Given the description of an element on the screen output the (x, y) to click on. 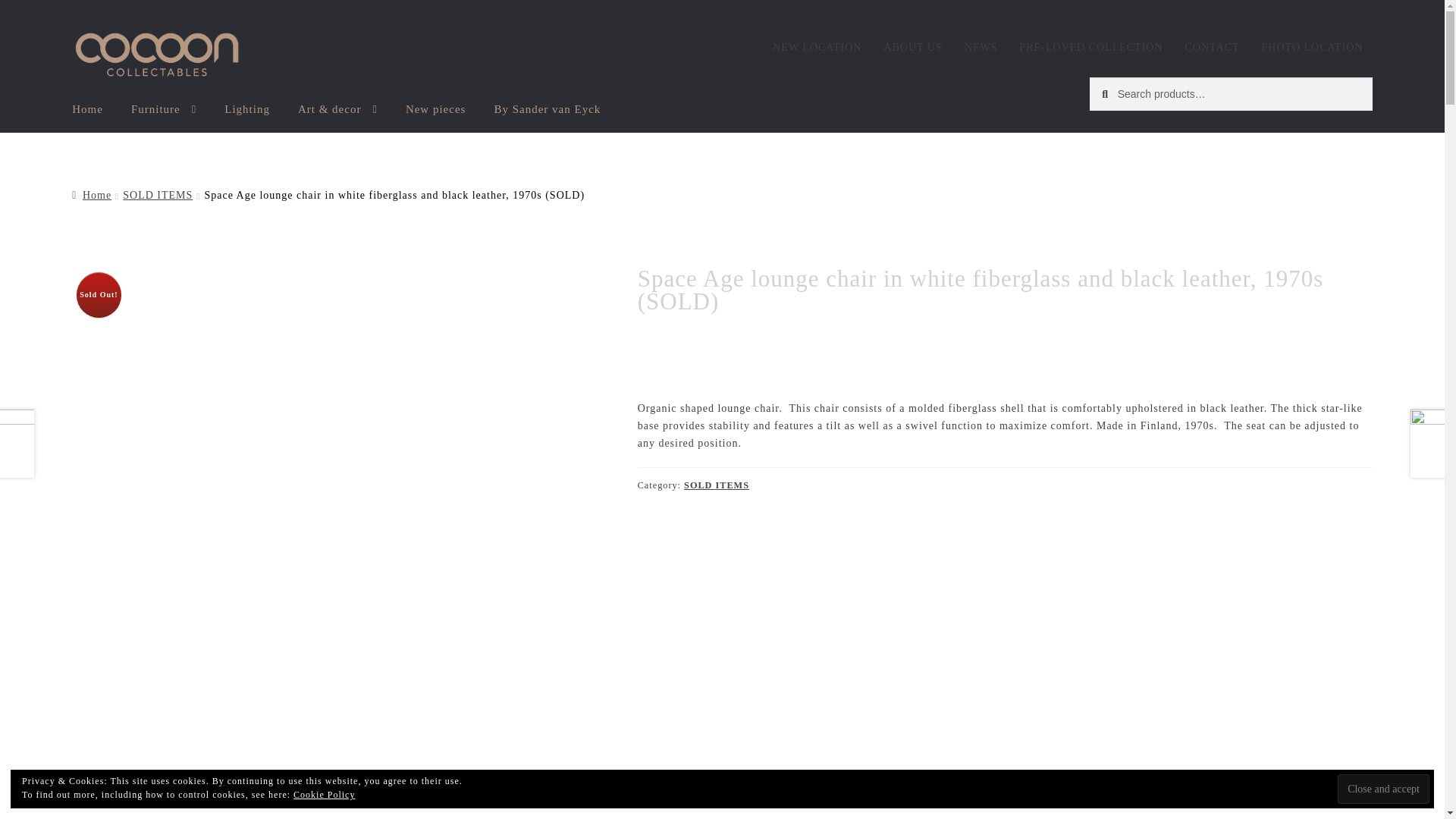
By Sander van Eyck (546, 103)
Furniture (163, 103)
Home (91, 194)
Close and accept (1383, 788)
New pieces (436, 103)
Lighting (247, 103)
SOLD ITEMS (157, 194)
NEWS (981, 47)
Home (87, 103)
